Given the description of an element on the screen output the (x, y) to click on. 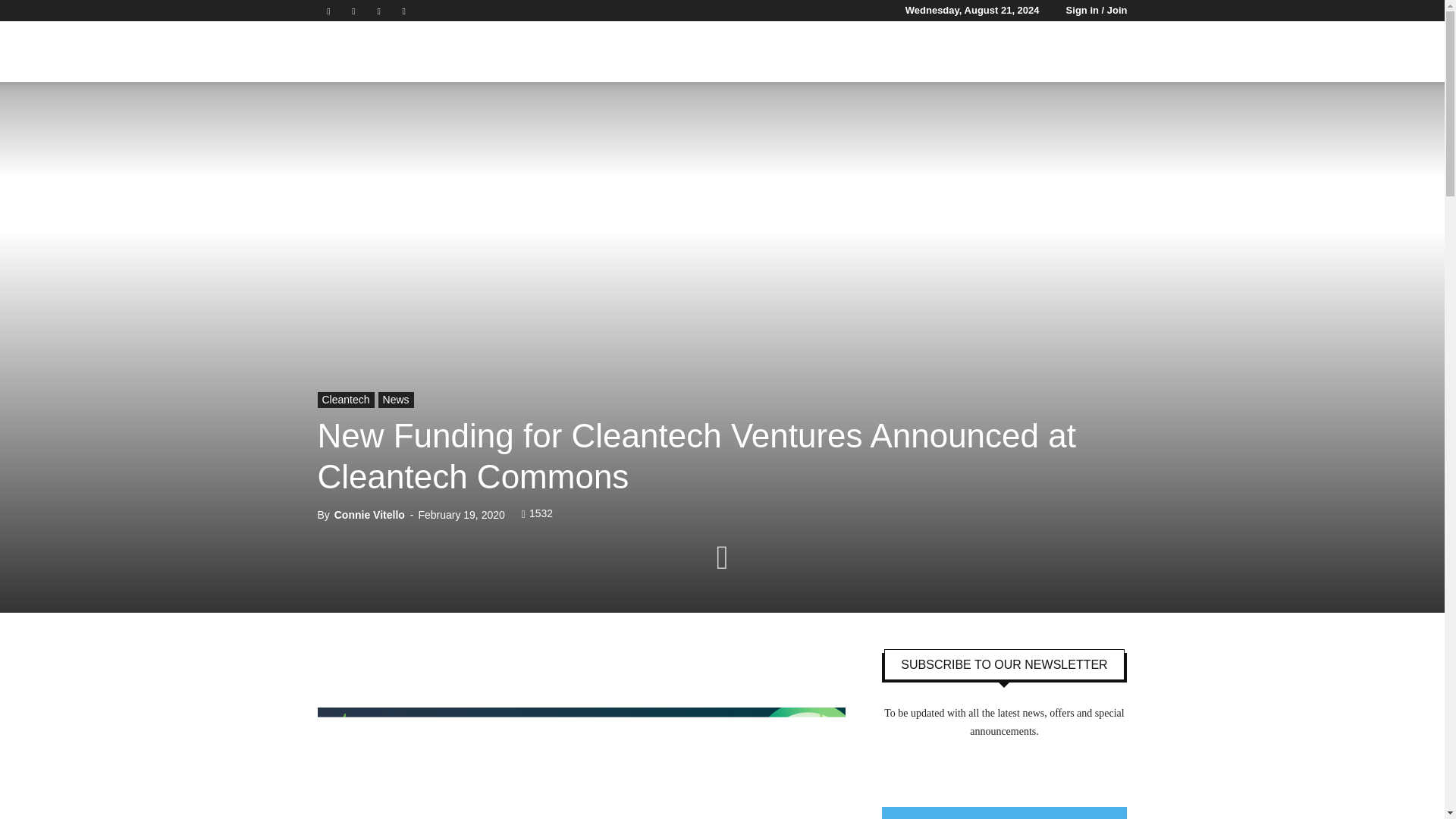
Linkedin (353, 10)
FEATURES (782, 51)
SHOWCASE (926, 51)
Twitter (379, 10)
Youtube (403, 10)
Search (1134, 124)
EVENTS (853, 51)
SUBSCRIBE (1010, 51)
Facebook (328, 10)
